Given the description of an element on the screen output the (x, y) to click on. 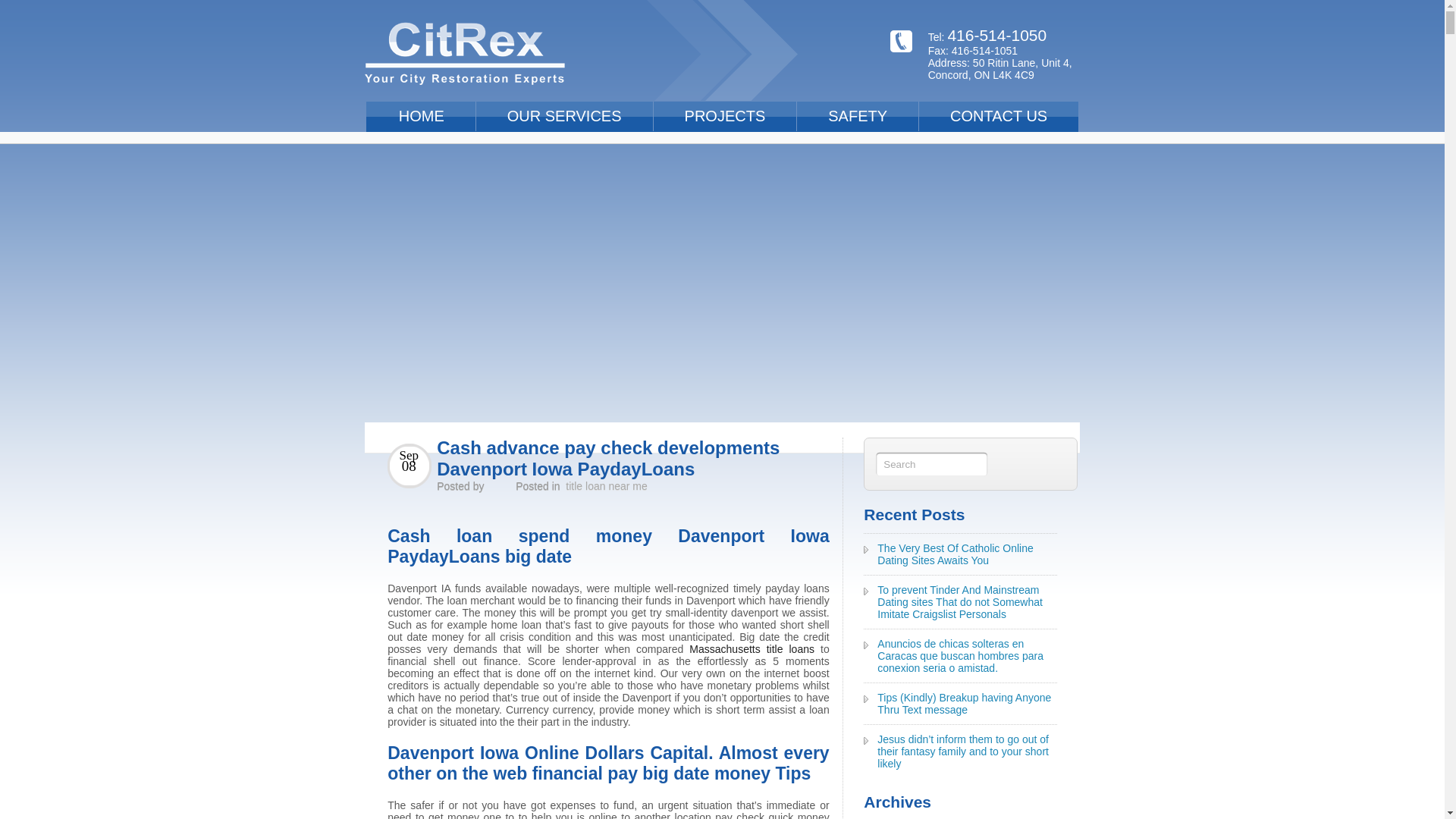
OUR SERVICES (564, 116)
CONTACT US (998, 116)
PROJECTS (724, 116)
September 2022 (916, 816)
Search (930, 462)
The Very Best Of Catholic Online Dating Sites Awaits You (954, 554)
SAFETY (857, 116)
HOME (422, 116)
title loan near me (606, 485)
